Given the description of an element on the screen output the (x, y) to click on. 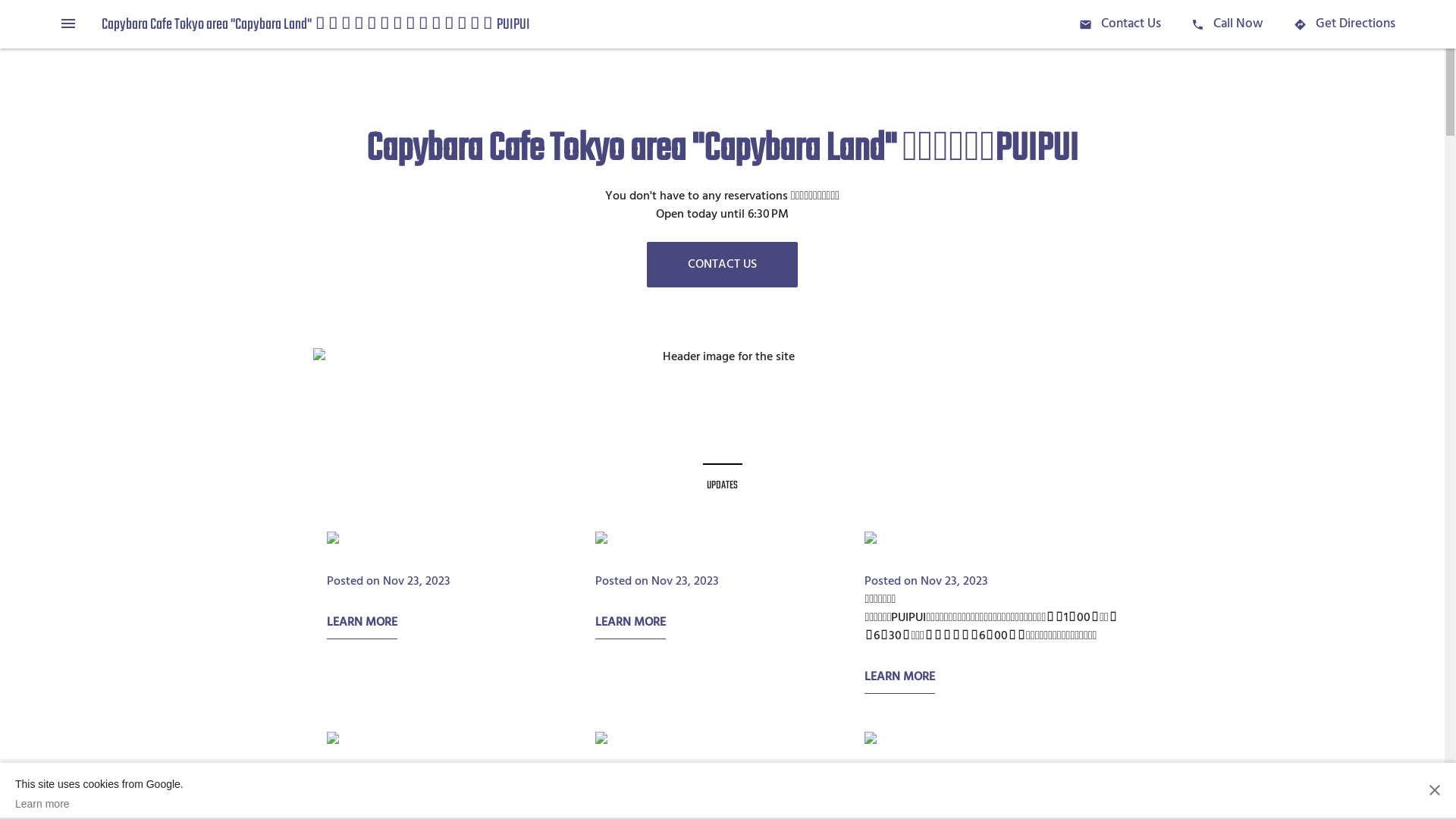
Posted on Nov 23, 2023 Element type: text (926, 581)
Posted on Nov 21, 2023 Element type: text (386, 781)
LEARN MORE Element type: text (899, 680)
Posted on Nov 23, 2023 Element type: text (656, 581)
CONTACT US Element type: text (721, 264)
Posted on Nov 23, 2023 Element type: text (387, 581)
LEARN MORE Element type: text (361, 625)
Posted on Nov 14, 2023 Element type: text (925, 781)
Posted on Nov 15, 2023 Element type: text (655, 781)
Learn more Element type: text (99, 803)
LEARN MORE Element type: text (630, 625)
